Given the description of an element on the screen output the (x, y) to click on. 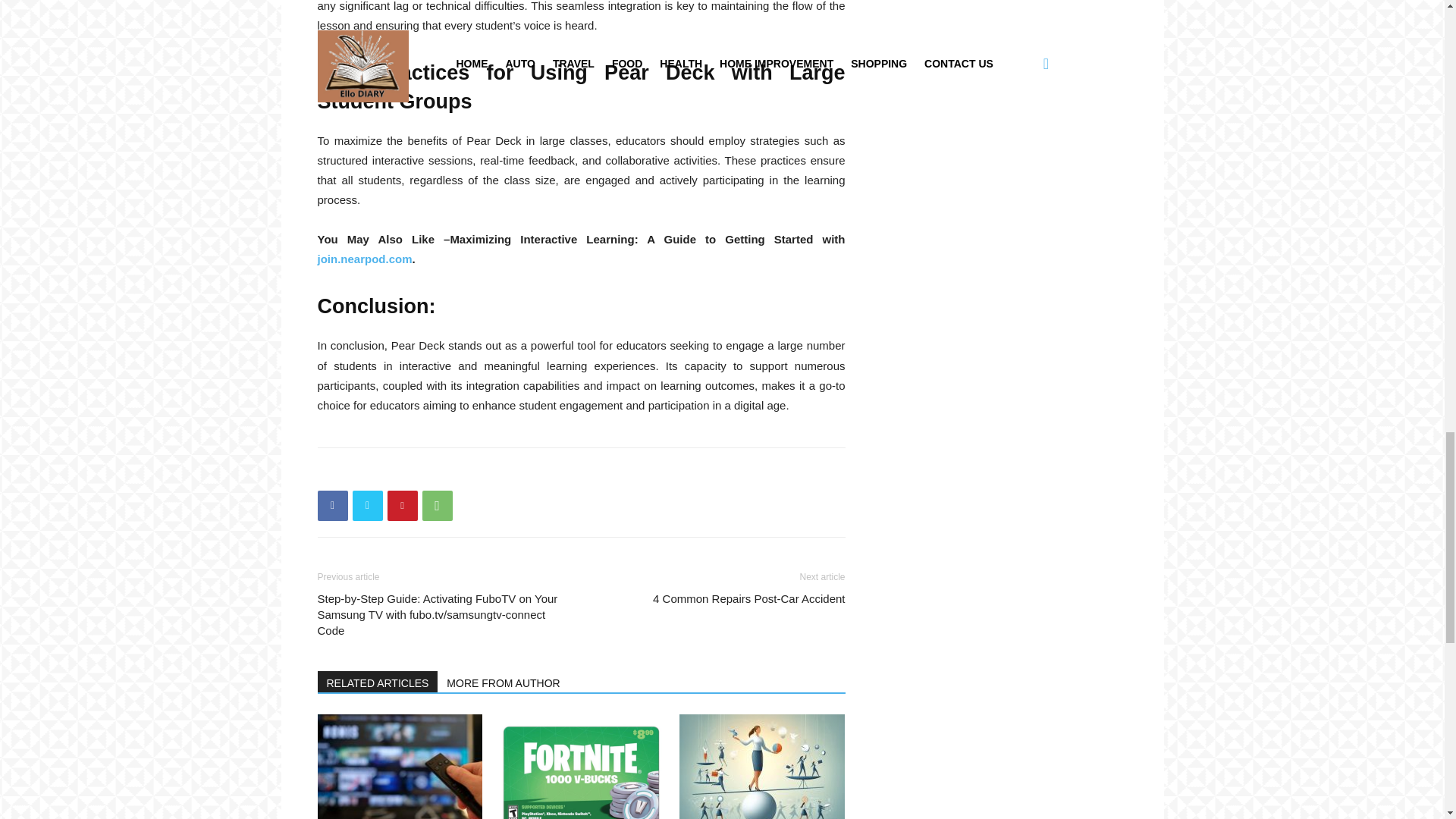
bottomFacebookLike (430, 471)
4 Common Repairs Post-Car Accident (748, 598)
Facebook (332, 505)
Pinterest (401, 505)
join.nearpod.com (364, 258)
Twitter (366, 505)
